Given the description of an element on the screen output the (x, y) to click on. 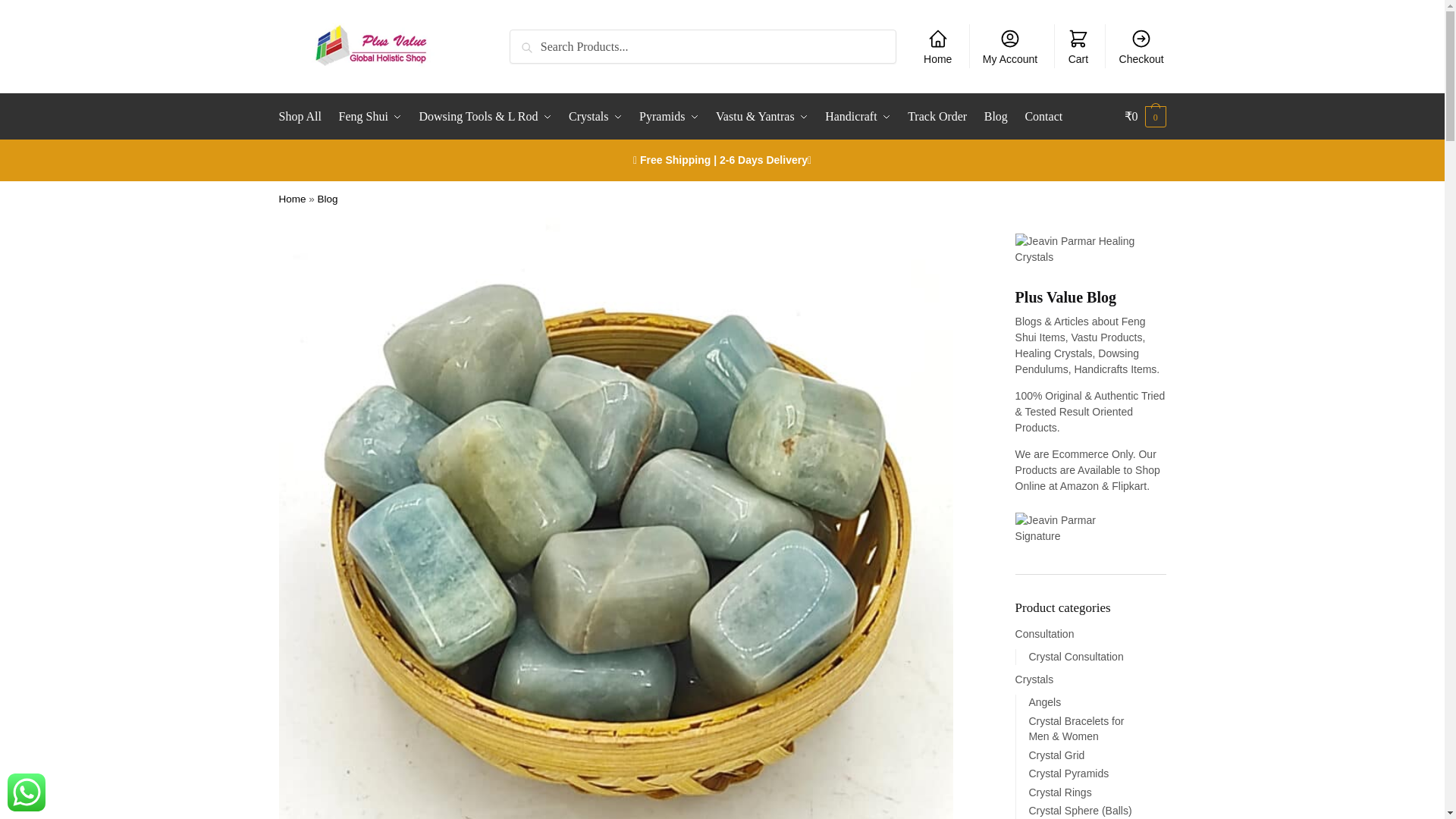
Home (937, 45)
Feng Shui (370, 116)
Pyramids (667, 116)
Crystals (595, 116)
Search (530, 39)
Shop All (304, 116)
Checkout (1141, 45)
View your shopping cart (1145, 116)
My Account (1010, 45)
